Given the description of an element on the screen output the (x, y) to click on. 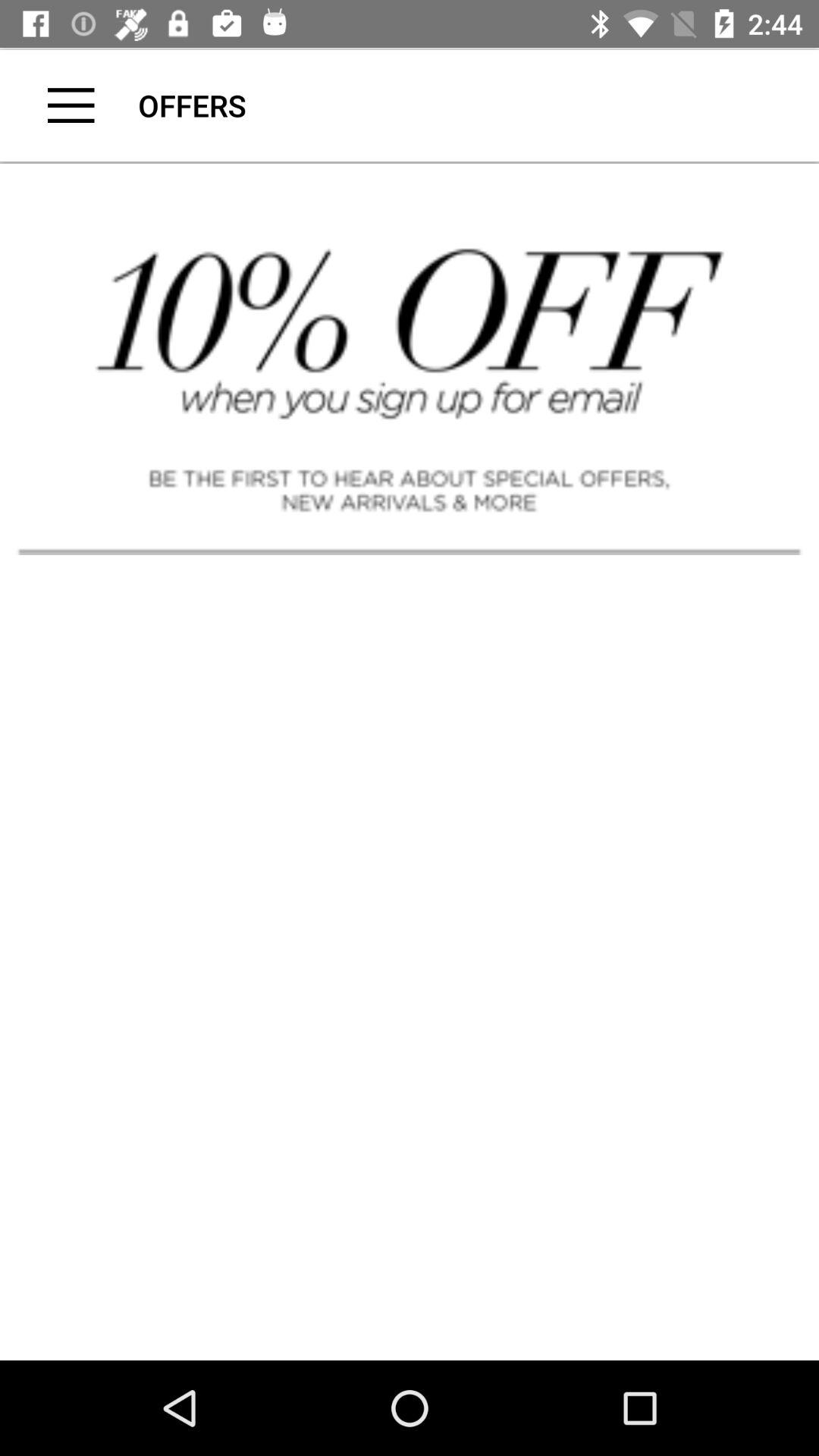
cick discount advertisement (409, 357)
